Given the description of an element on the screen output the (x, y) to click on. 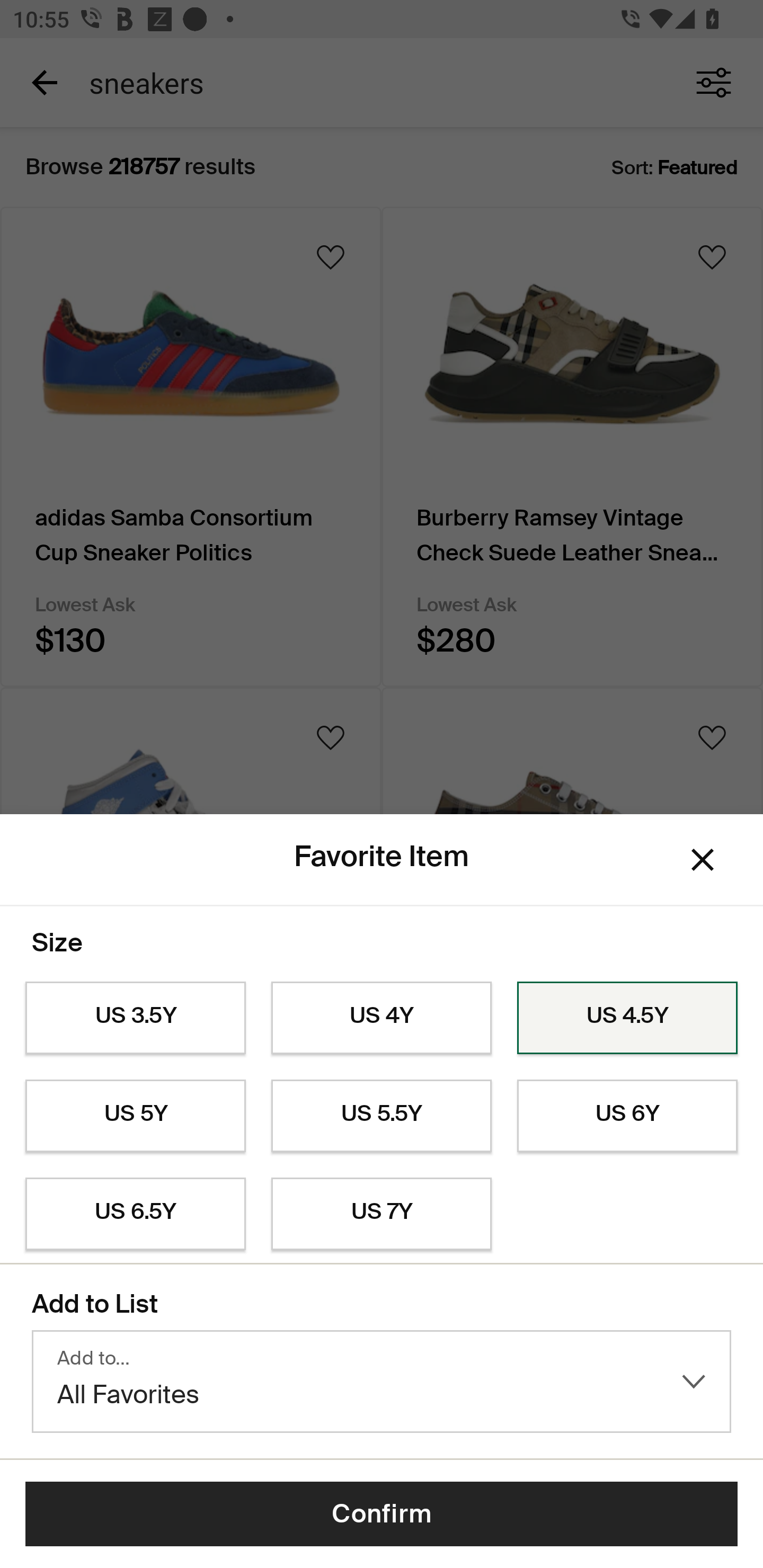
Dismiss (702, 859)
US 3.5Y (135, 1018)
US 4Y (381, 1018)
US 4.5Y (627, 1018)
US 5Y (135, 1116)
US 5.5Y (381, 1116)
US 6Y (627, 1116)
US 6.5Y (135, 1214)
US 7Y (381, 1214)
Add to… All Favorites (381, 1381)
Confirm (381, 1513)
